Given the description of an element on the screen output the (x, y) to click on. 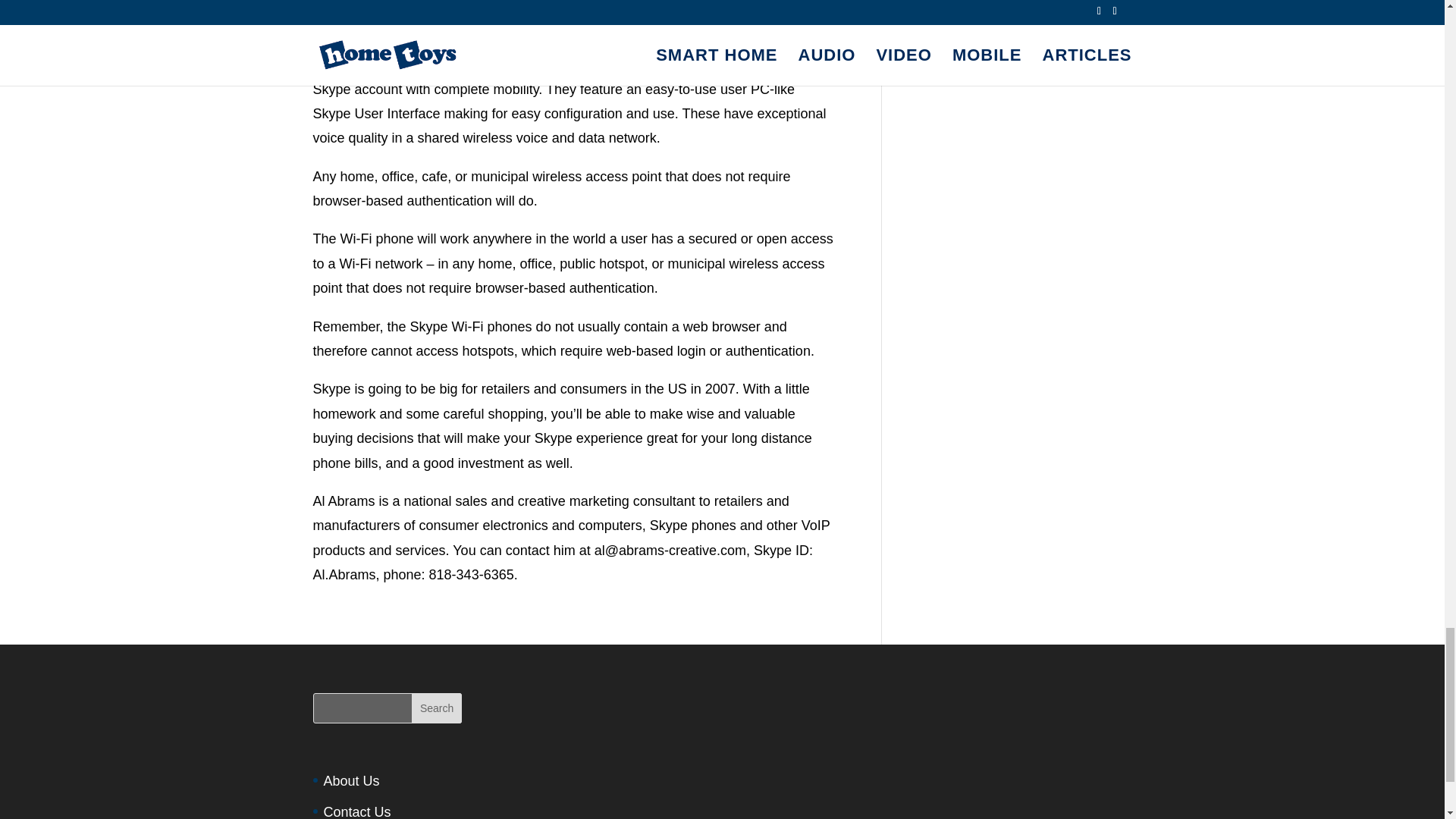
About Us (350, 780)
Contact Us (356, 811)
Search (436, 707)
